Given the description of an element on the screen output the (x, y) to click on. 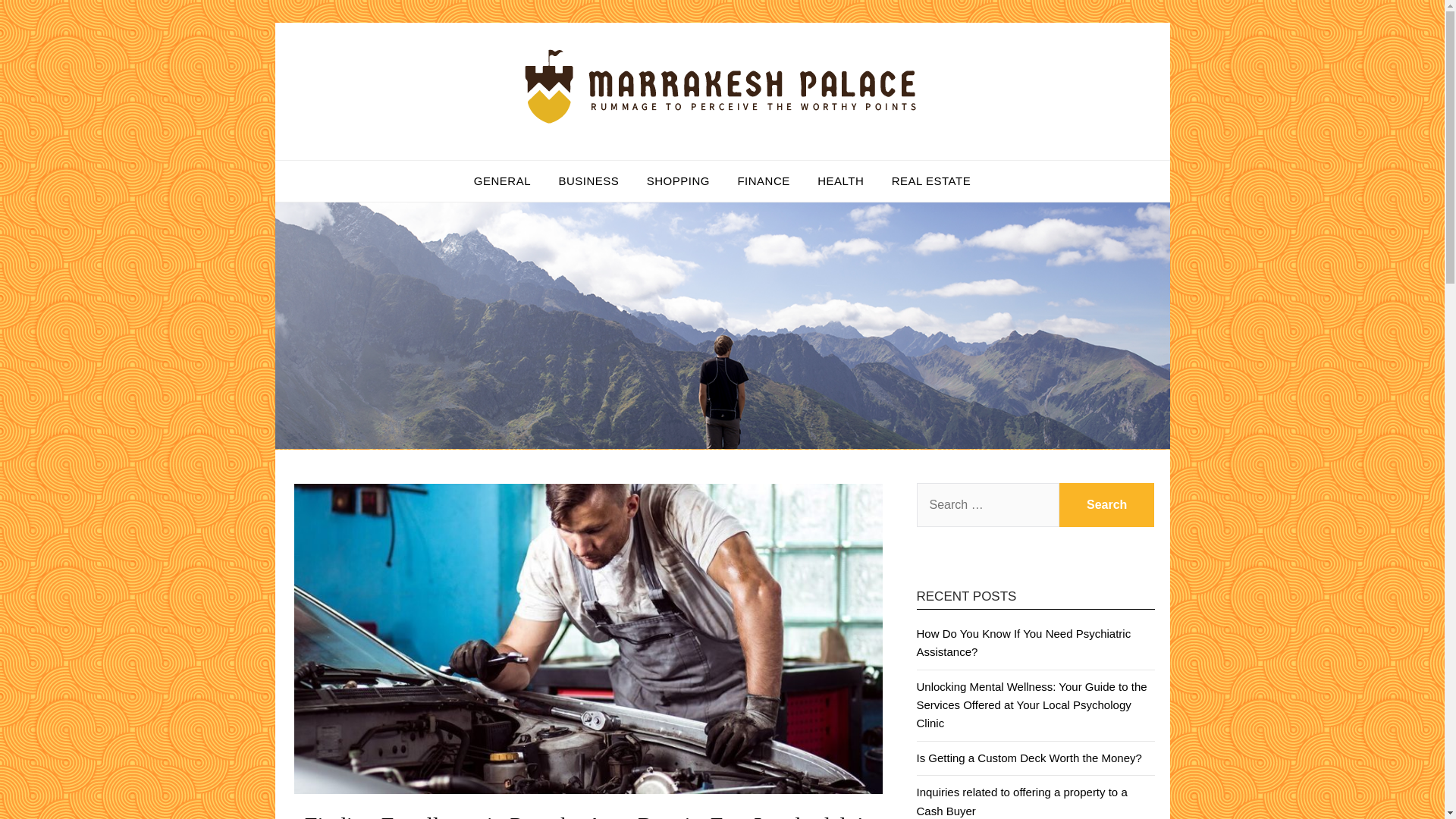
HEALTH (840, 180)
BUSINESS (588, 180)
How Do You Know If You Need Psychiatric Assistance? (1023, 642)
Is Getting a Custom Deck Worth the Money? (1028, 757)
GENERAL (502, 180)
Search (1106, 505)
REAL ESTATE (930, 180)
Search (1106, 505)
Inquiries related to offering a property to a Cash Buyer (1020, 800)
Search (1106, 505)
FINANCE (763, 180)
SHOPPING (678, 180)
